Given the description of an element on the screen output the (x, y) to click on. 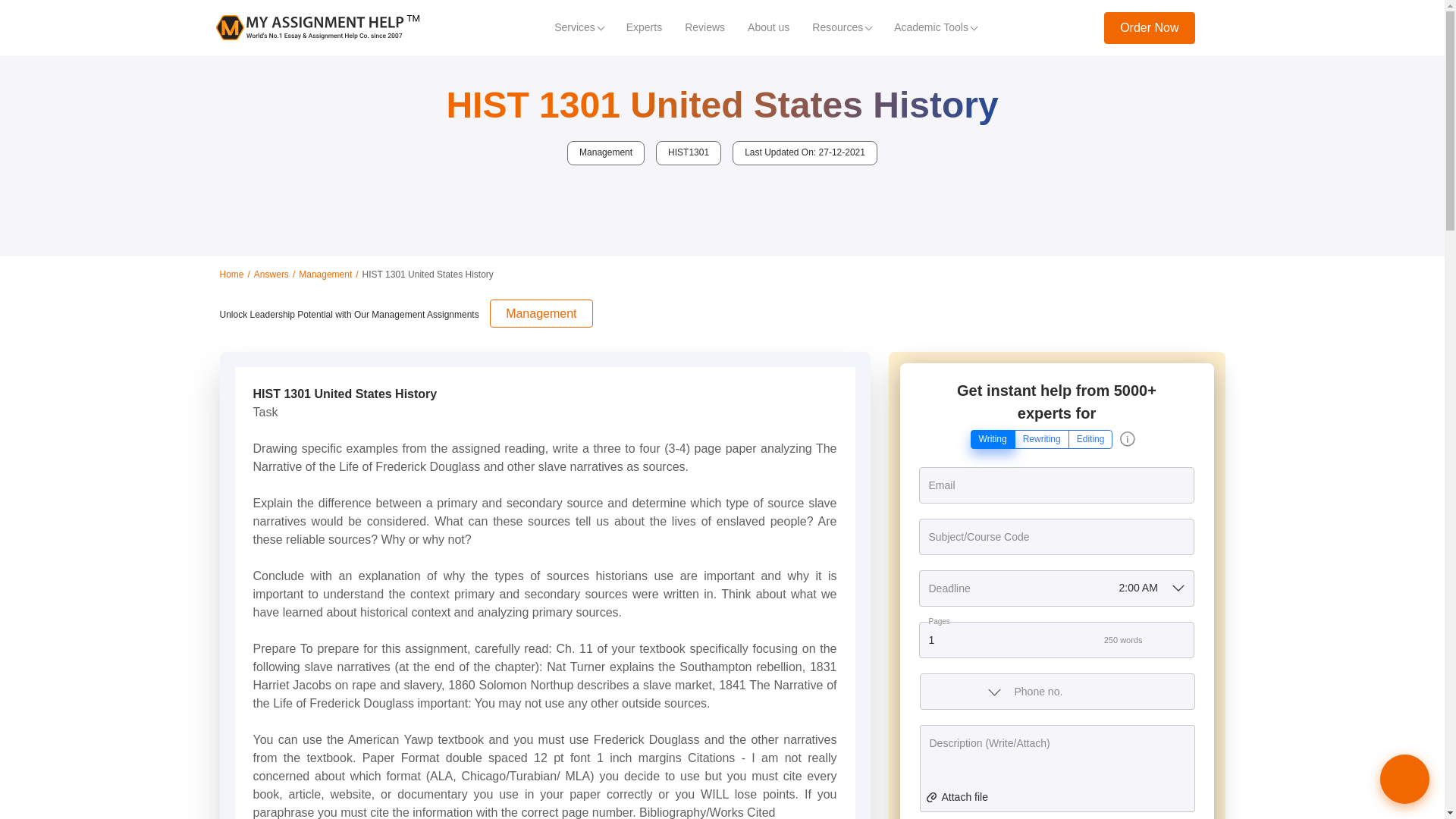
menu (1218, 27)
About us (768, 27)
plus (1181, 640)
Reviews (704, 27)
Info (1127, 438)
Services (578, 27)
myassignmenthelp (317, 27)
Experts (643, 27)
1 (1055, 639)
